Given the description of an element on the screen output the (x, y) to click on. 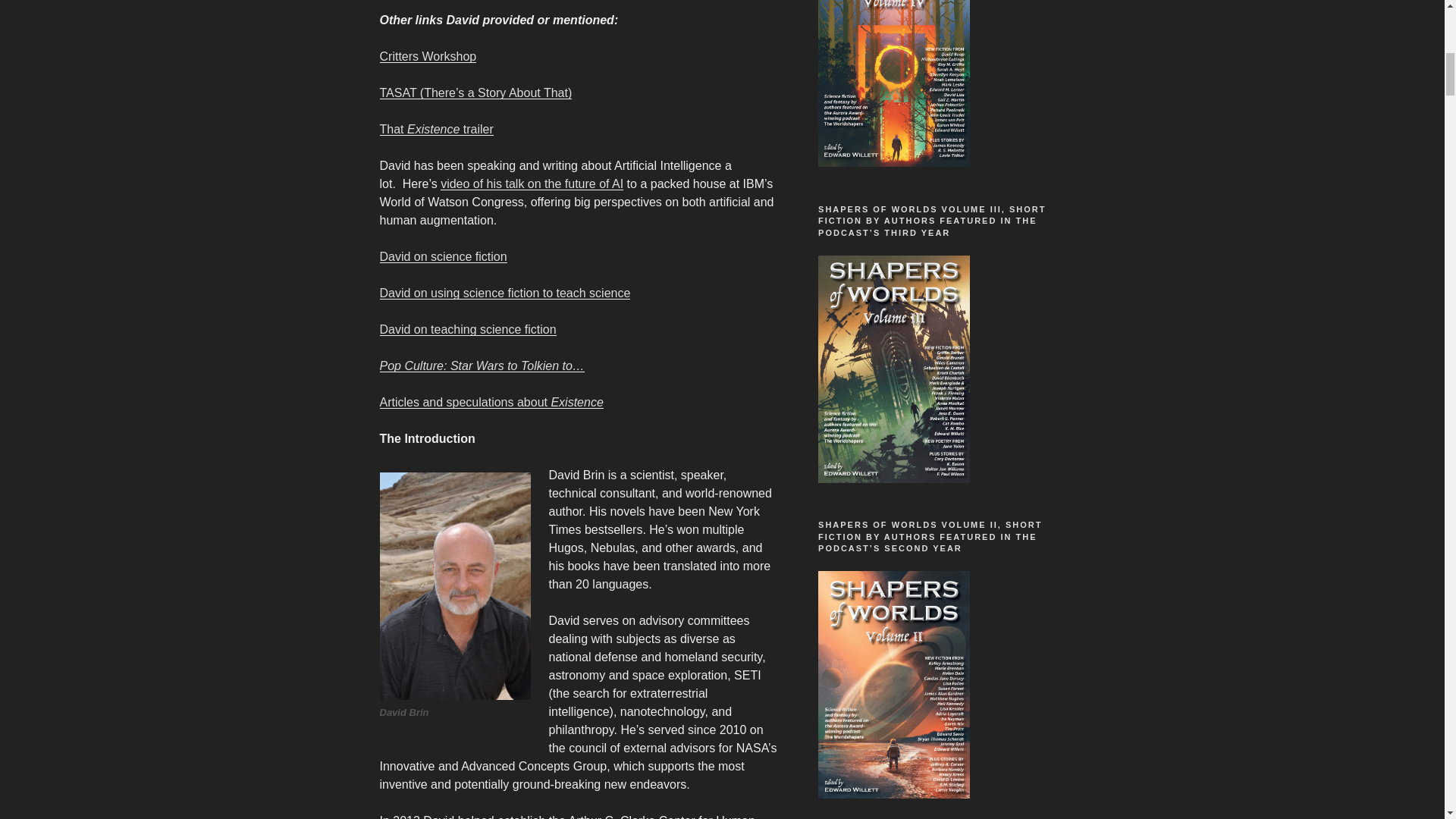
David on teaching science fiction (467, 328)
David on science fiction (442, 256)
video of his talk on the future of AI (532, 183)
That Existence trailer (435, 128)
Critters Workshop (427, 56)
David on using science fiction to teach science (504, 292)
